Given the description of an element on the screen output the (x, y) to click on. 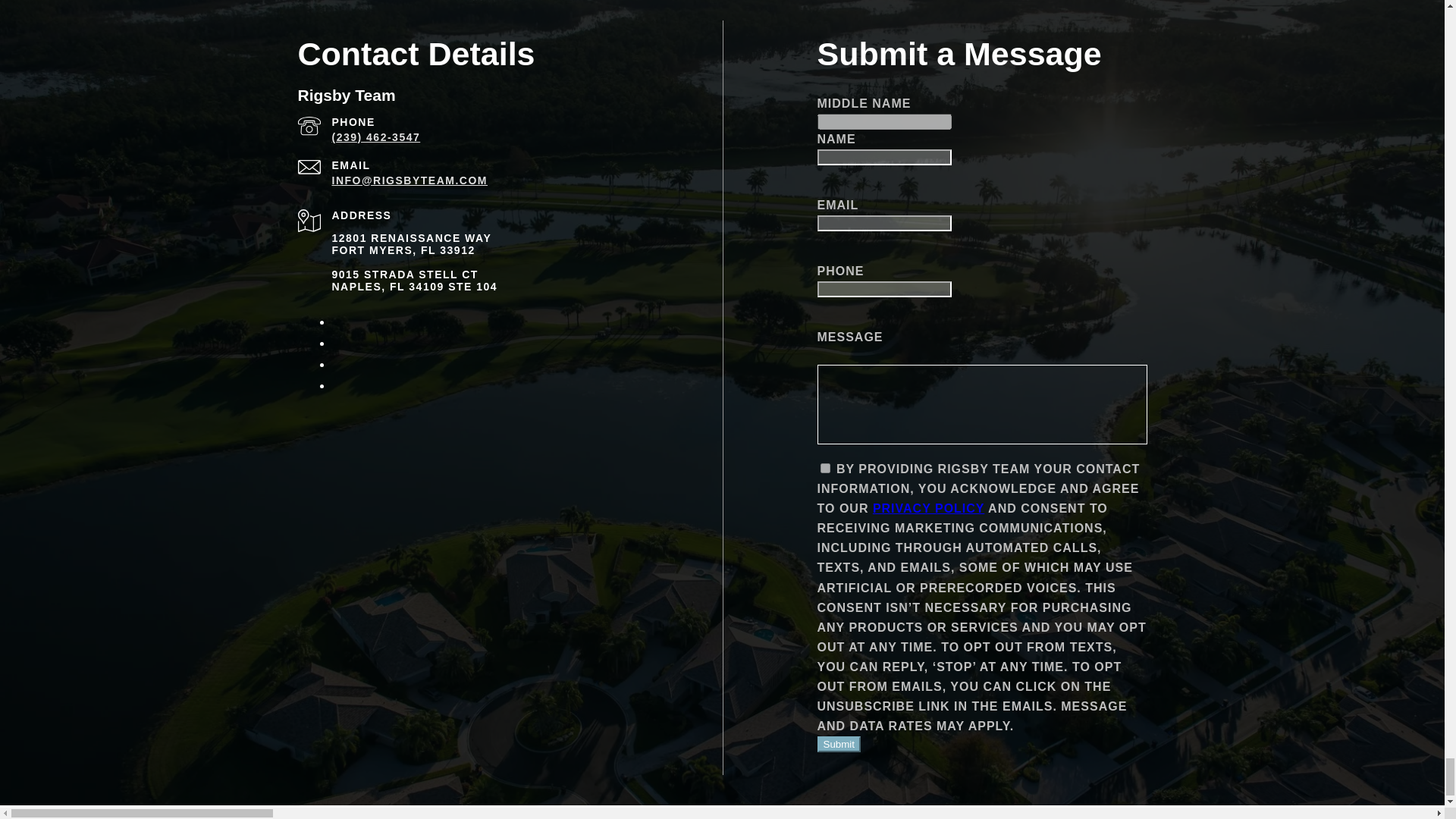
on (825, 468)
